Given the description of an element on the screen output the (x, y) to click on. 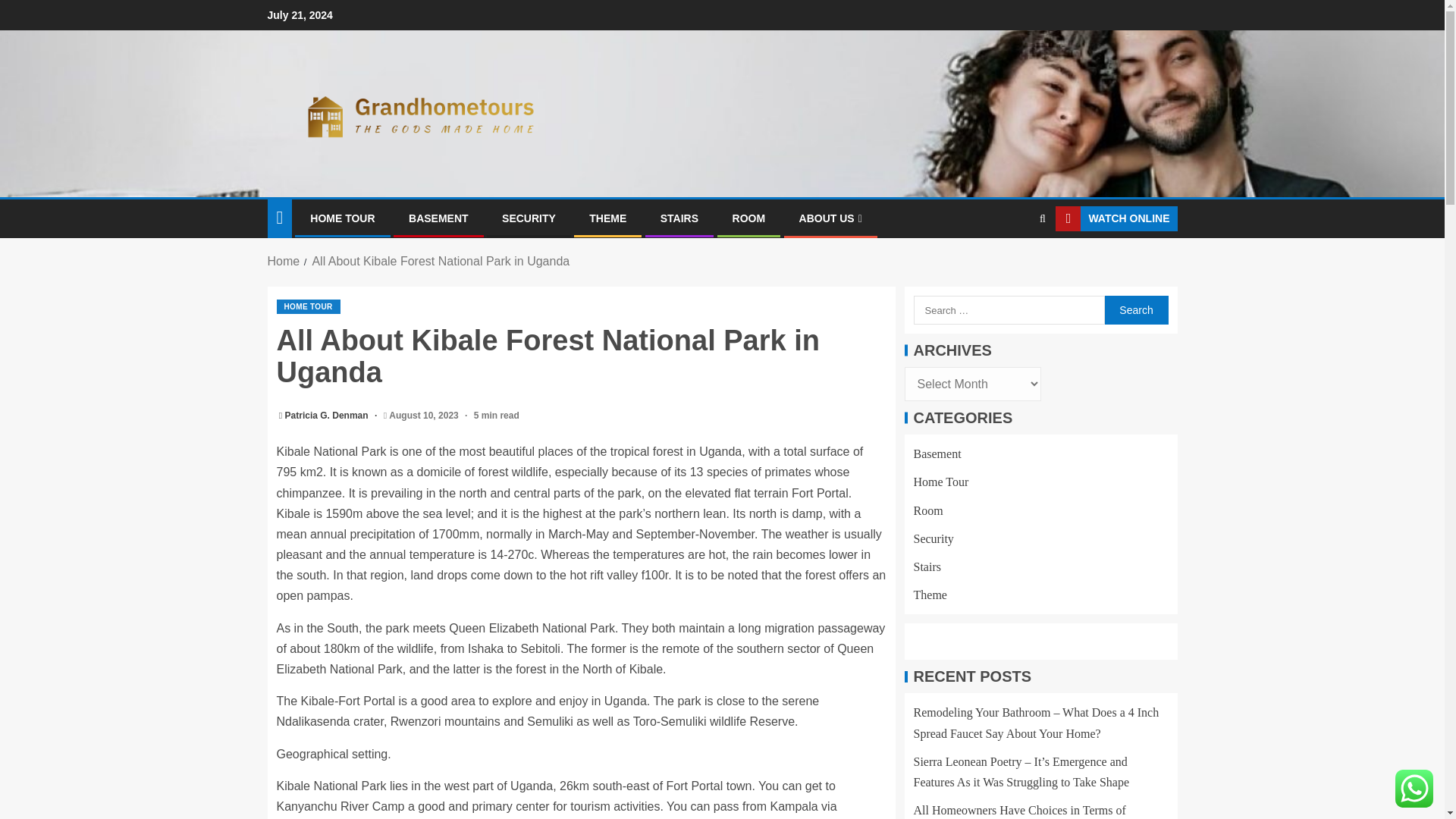
HOME TOUR (307, 306)
All About Kibale Forest National Park in Uganda (440, 260)
WATCH ONLINE (1115, 218)
STAIRS (679, 218)
HOME TOUR (342, 218)
Patricia G. Denman (328, 415)
BASEMENT (438, 218)
ABOUT US (830, 218)
Home (282, 260)
THEME (607, 218)
Search (1135, 309)
Search (1013, 265)
ROOM (748, 218)
SECURITY (529, 218)
Search (1135, 309)
